Given the description of an element on the screen output the (x, y) to click on. 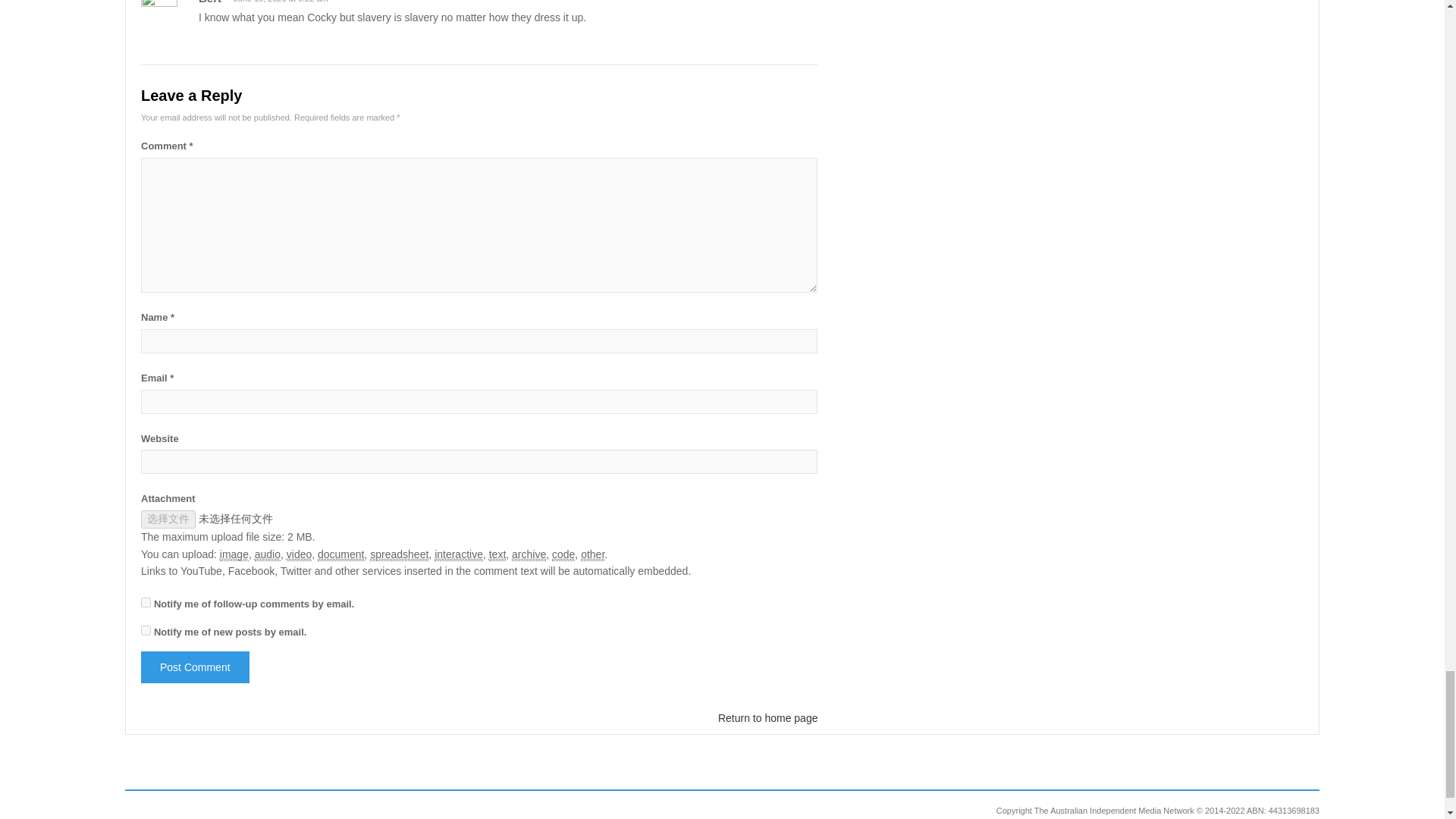
subscribe (146, 602)
Post Comment (194, 667)
subscribe (146, 630)
